Given the description of an element on the screen output the (x, y) to click on. 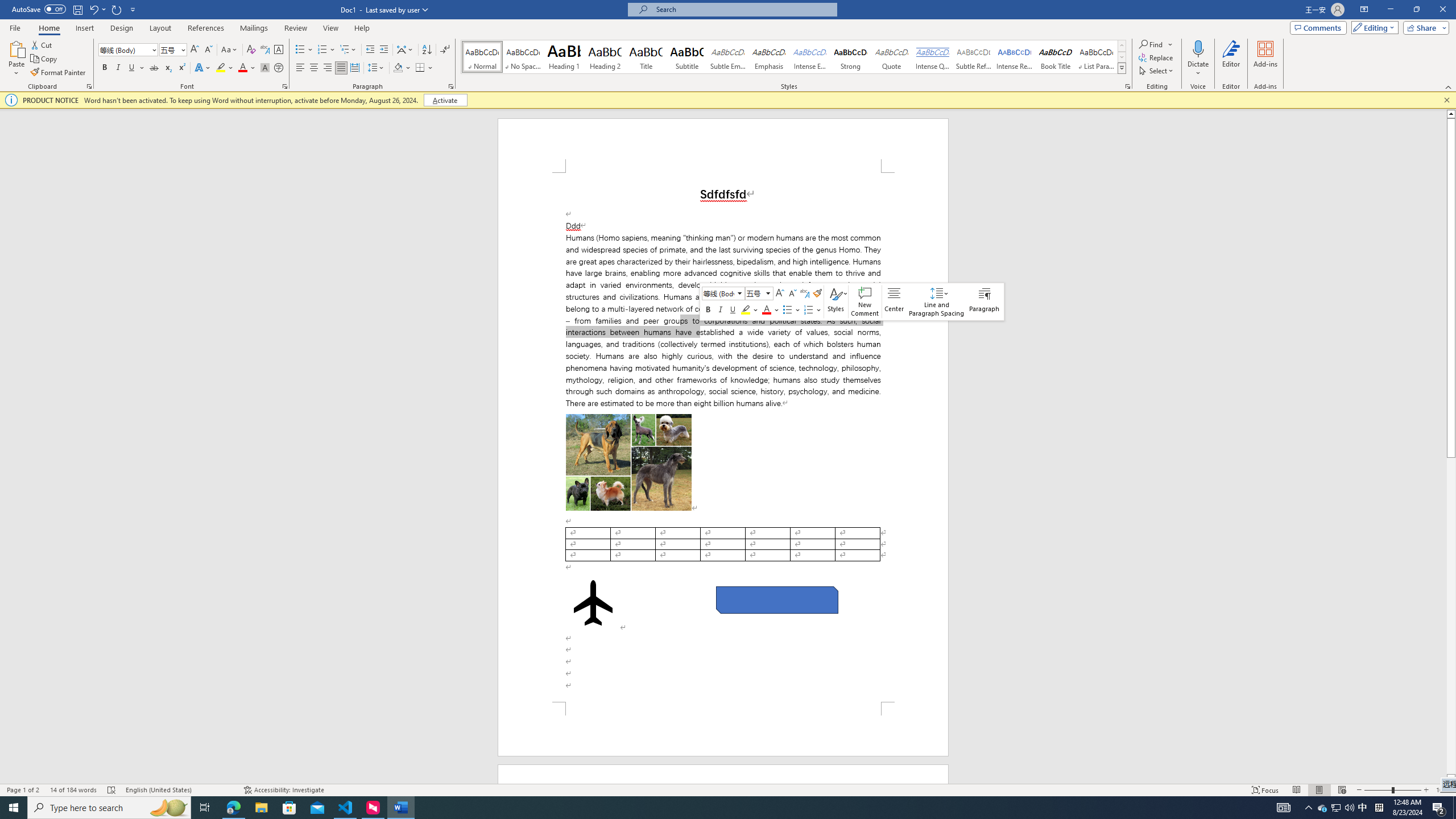
Spelling and Grammar Check Errors (111, 790)
